Given the description of an element on the screen output the (x, y) to click on. 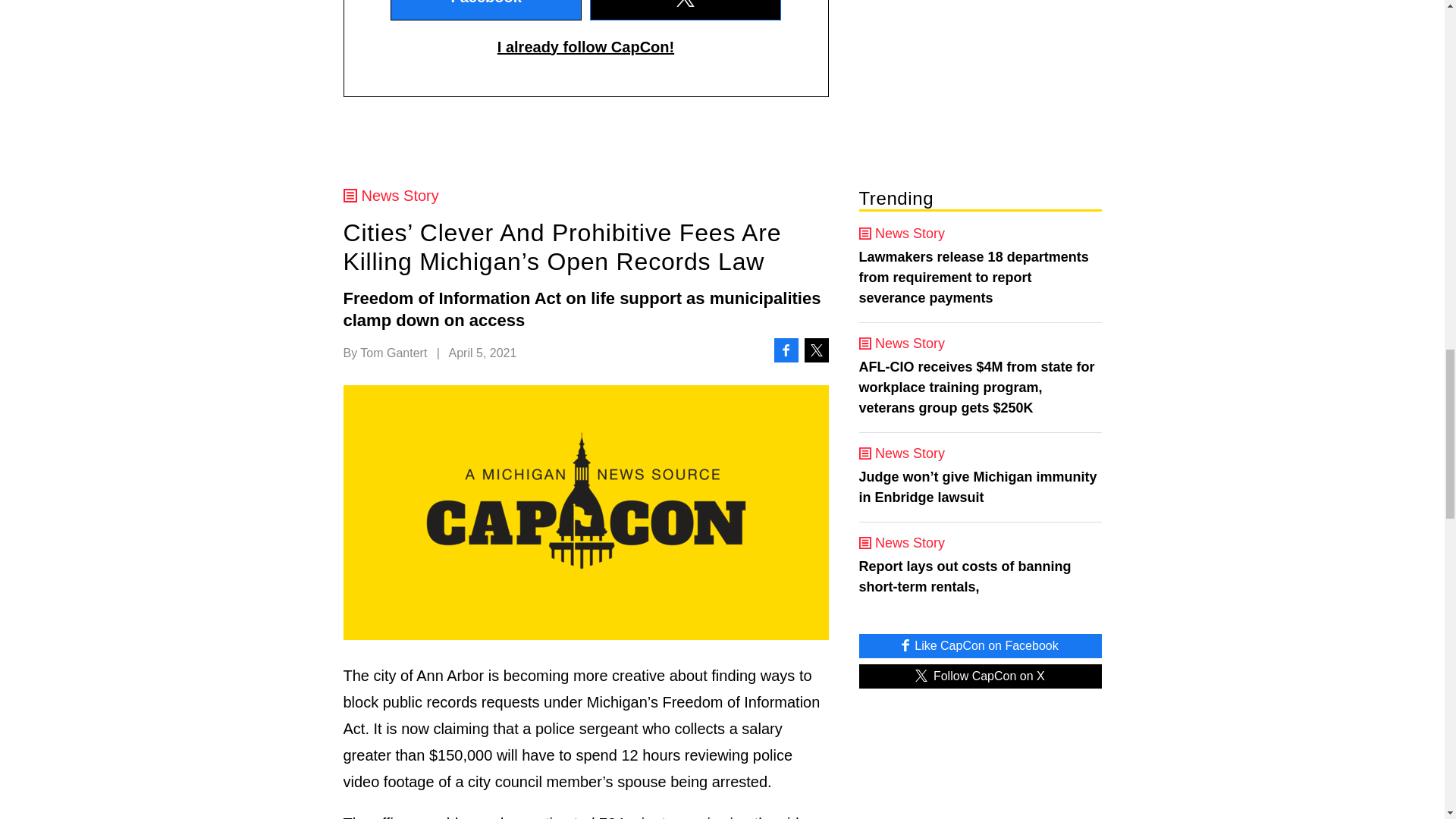
Facebook (485, 10)
I already follow CapCon! (585, 46)
News Story (979, 233)
Tom Gantert (392, 352)
News Story (585, 195)
